Given the description of an element on the screen output the (x, y) to click on. 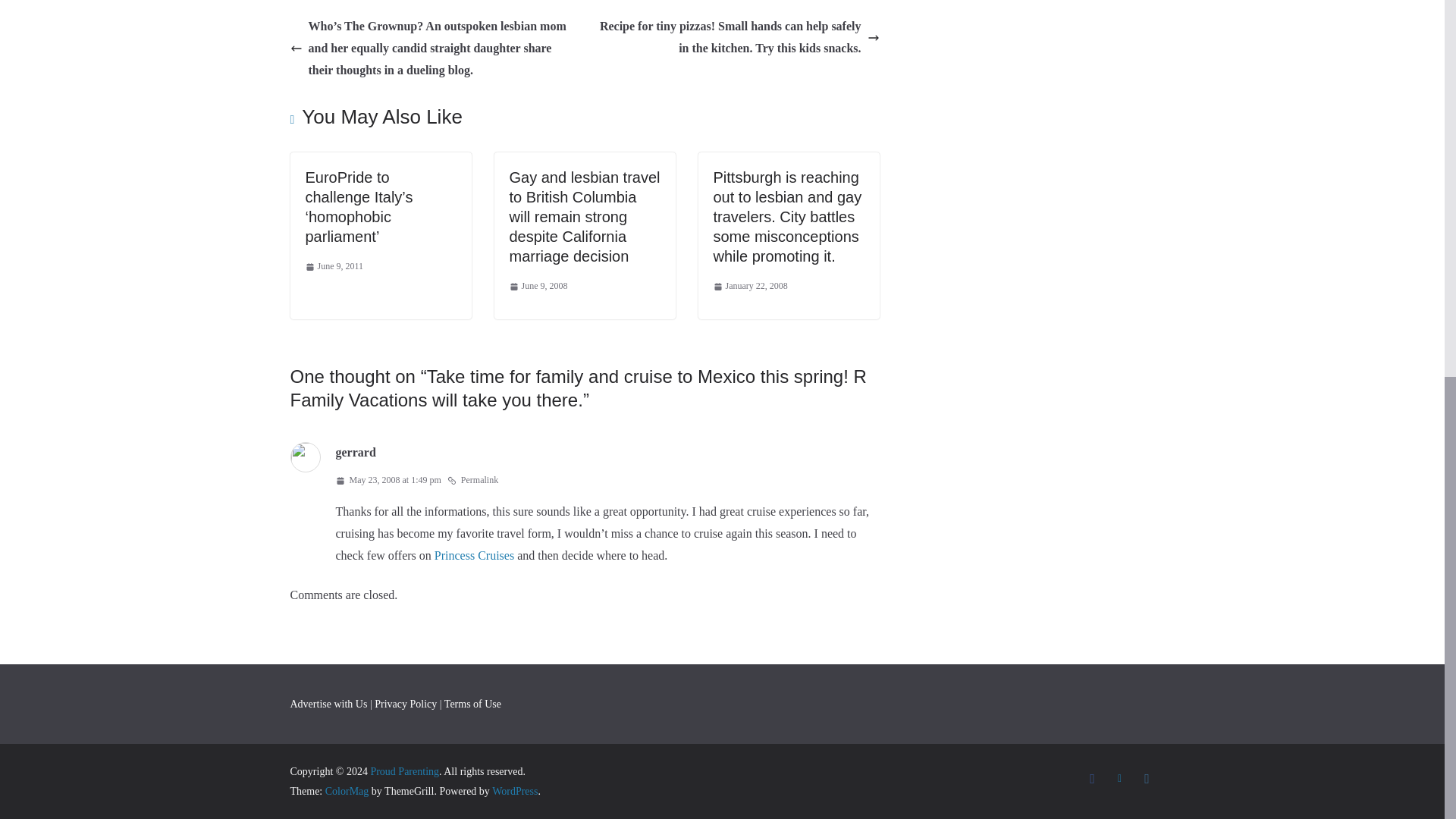
7:34 pm (333, 266)
2:10 pm (538, 286)
Permalink (471, 480)
January 22, 2008 (750, 286)
2:08 pm (750, 286)
June 9, 2008 (538, 286)
June 9, 2011 (333, 266)
Princess Cruises (473, 554)
